Given the description of an element on the screen output the (x, y) to click on. 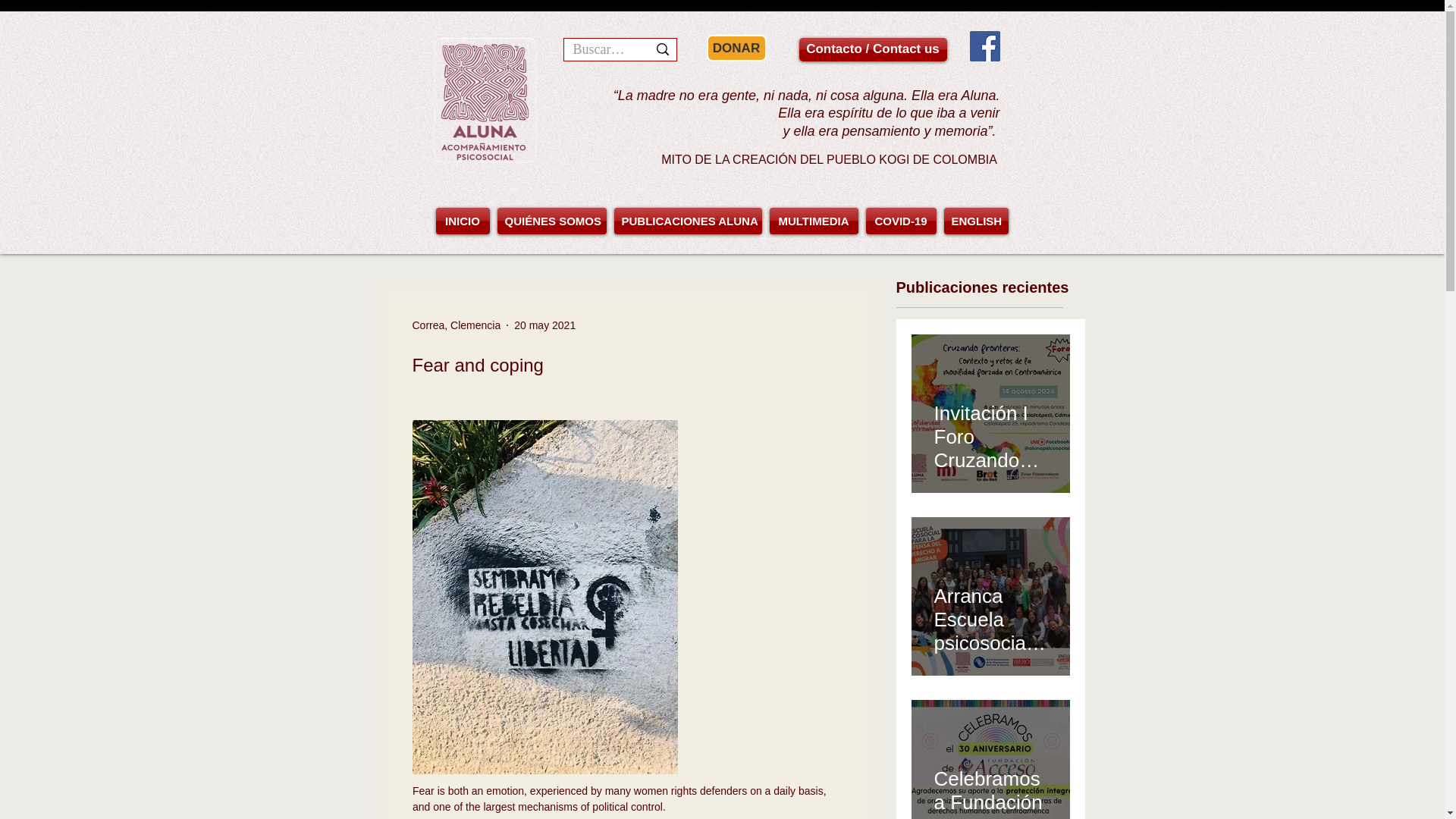
MULTIMEDIA (813, 221)
Correa, Clemencia (456, 324)
PUBLICACIONES ALUNA (687, 221)
20 may 2021 (544, 324)
KOGI DE COLOMBIA  (938, 159)
COVID-19 (900, 221)
DONAR (736, 48)
INICIO (464, 221)
ENGLISH (974, 221)
